Given the description of an element on the screen output the (x, y) to click on. 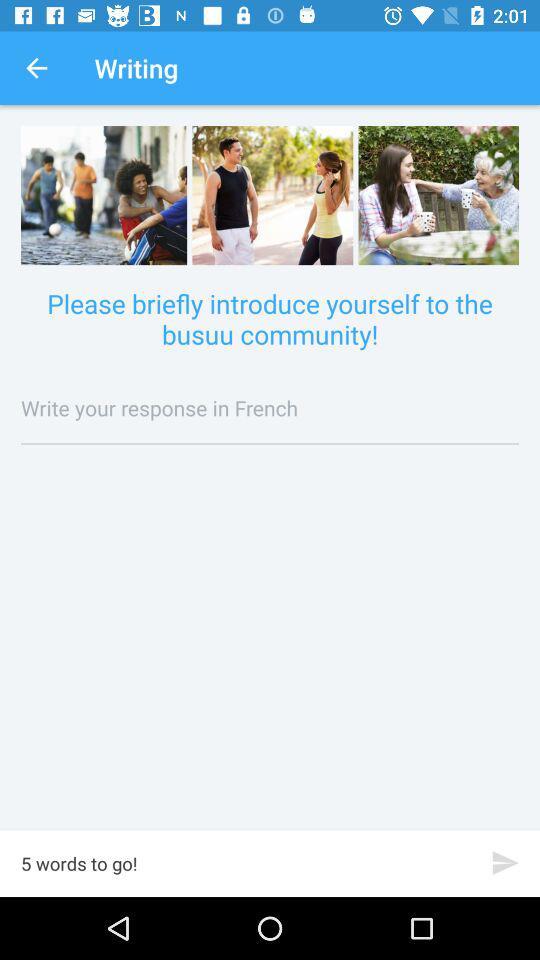
select app next to writing app (36, 68)
